Given the description of an element on the screen output the (x, y) to click on. 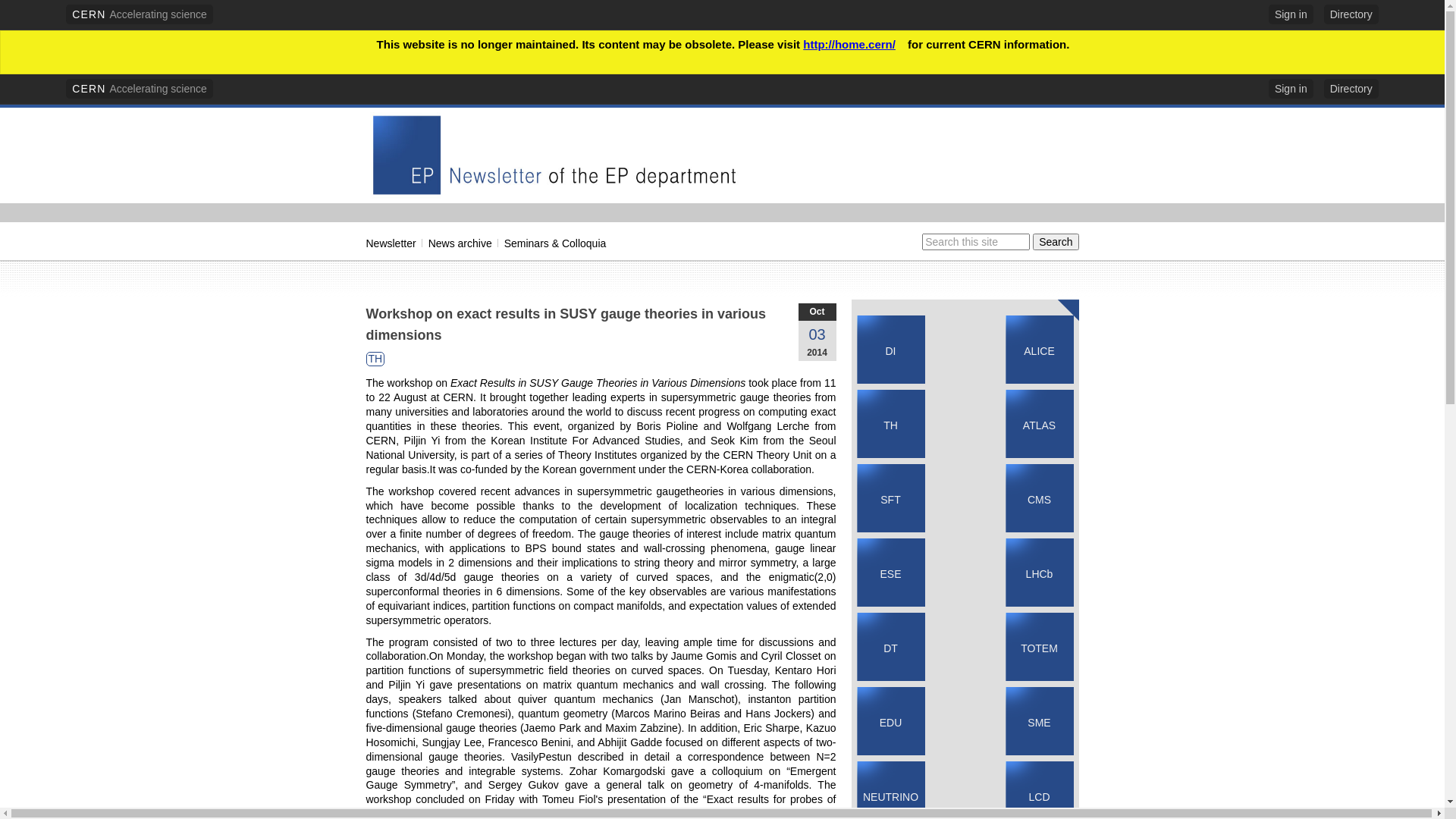
LHCb Element type: text (1039, 573)
News archive Element type: text (460, 243)
DT Element type: text (890, 648)
DI Element type: text (890, 351)
Sign in Element type: text (1290, 88)
TH Element type: text (375, 358)
http://home.cern/ Element type: text (853, 43)
CERN Accelerating science Element type: text (139, 88)
ALICE Element type: text (1038, 351)
TOTEM Element type: text (1038, 648)
Sign in Element type: text (1290, 14)
SFT Element type: text (890, 499)
LCD Element type: text (1038, 796)
CMS Element type: text (1039, 499)
Directory Element type: text (1351, 14)
EDU Element type: text (890, 722)
SME Element type: text (1038, 722)
ATLAS Element type: text (1038, 425)
Seminars & Colloquia Element type: text (555, 243)
Directory Element type: text (1351, 88)
Skip to main content Element type: text (41, 74)
Newsletter Element type: text (390, 243)
ESE Element type: text (889, 573)
CERN Accelerating science Element type: text (139, 14)
Search Element type: text (1055, 241)
TH Element type: text (890, 425)
